Given the description of an element on the screen output the (x, y) to click on. 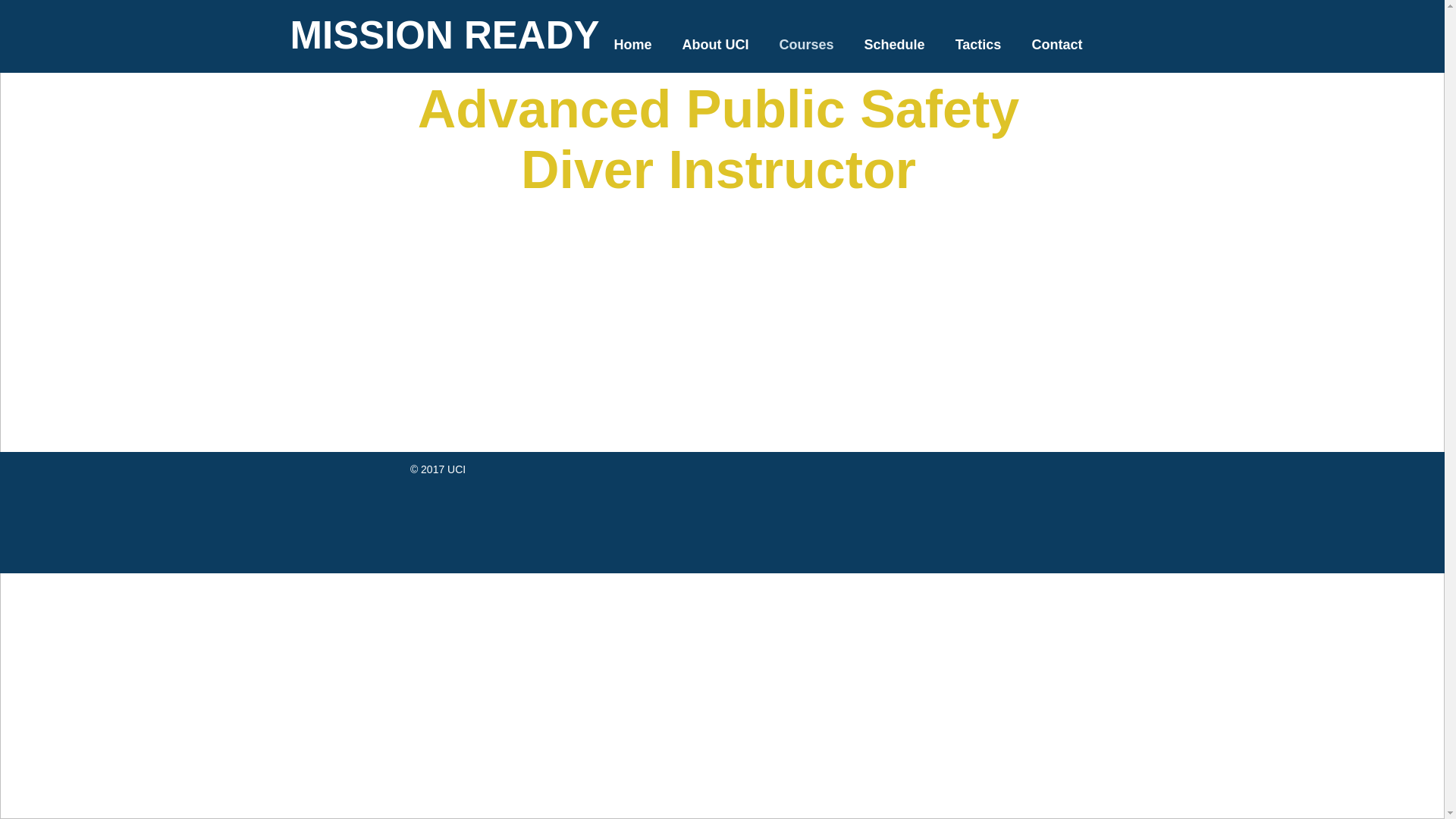
Home (632, 44)
Courses (806, 44)
Schedule (894, 44)
Tactics (978, 44)
About UCI (715, 44)
